Given the description of an element on the screen output the (x, y) to click on. 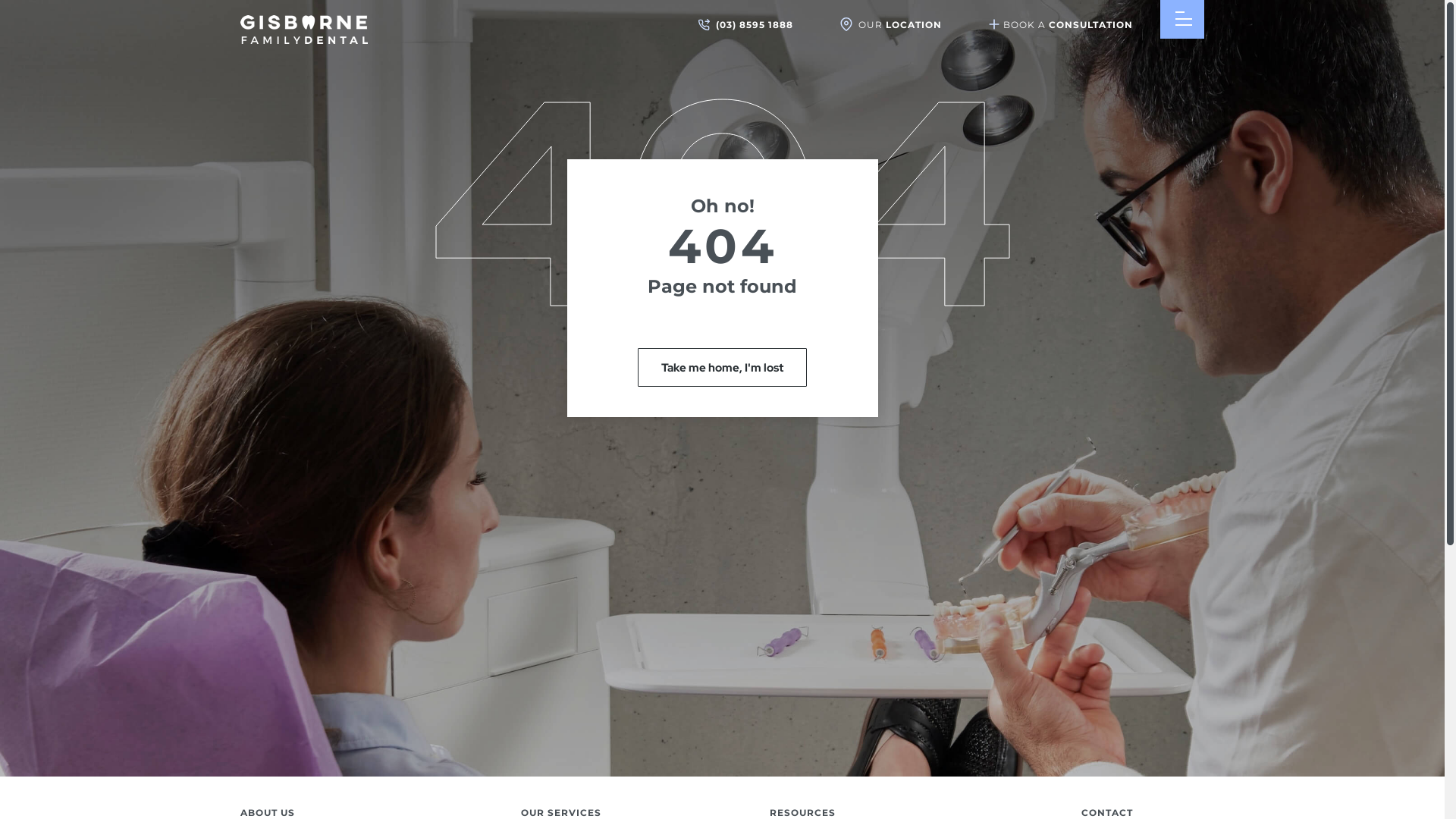
Gisborne Family Dental Element type: hover (303, 39)
Take me home, I'm lost Element type: text (721, 367)
OUR LOCATION Element type: text (890, 16)
(03) 8595 1888 Element type: text (745, 16)
BOOK A CONSULTATION Element type: text (1060, 15)
